Given the description of an element on the screen output the (x, y) to click on. 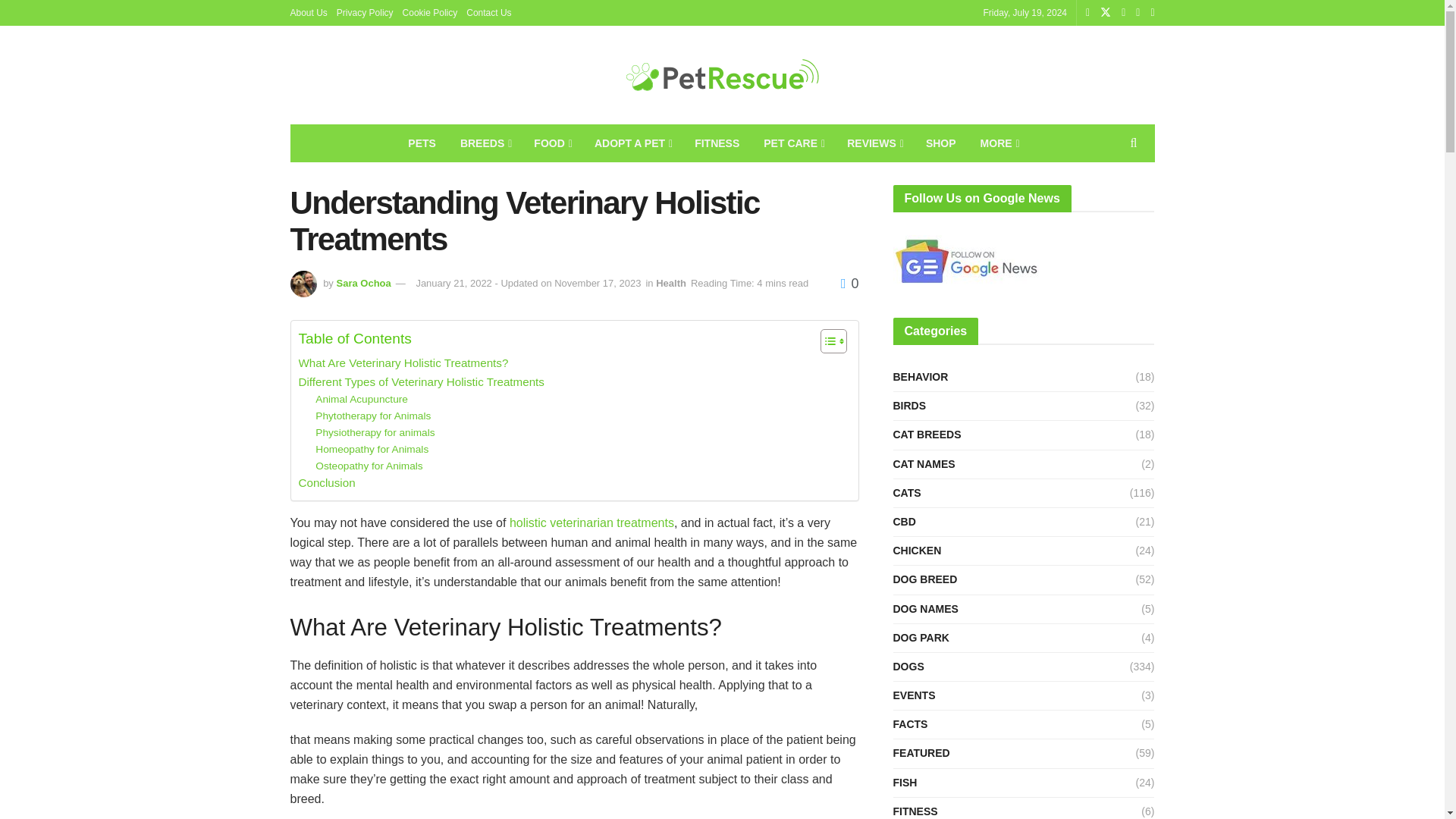
Osteopathy for Animals (368, 466)
Contact Us (488, 12)
Homeopathy for Animals (371, 449)
About Us (307, 12)
What Are Veterinary Holistic Treatments? (403, 362)
Phytotherapy for Animals (372, 416)
Different Types of Veterinary Holistic Treatments (421, 382)
PETS (418, 143)
BREEDS (484, 143)
Animal Acupuncture (361, 399)
FOOD (551, 143)
MORE (998, 143)
Conclusion (326, 483)
Physiotherapy for animals (374, 433)
REVIEWS (874, 143)
